Given the description of an element on the screen output the (x, y) to click on. 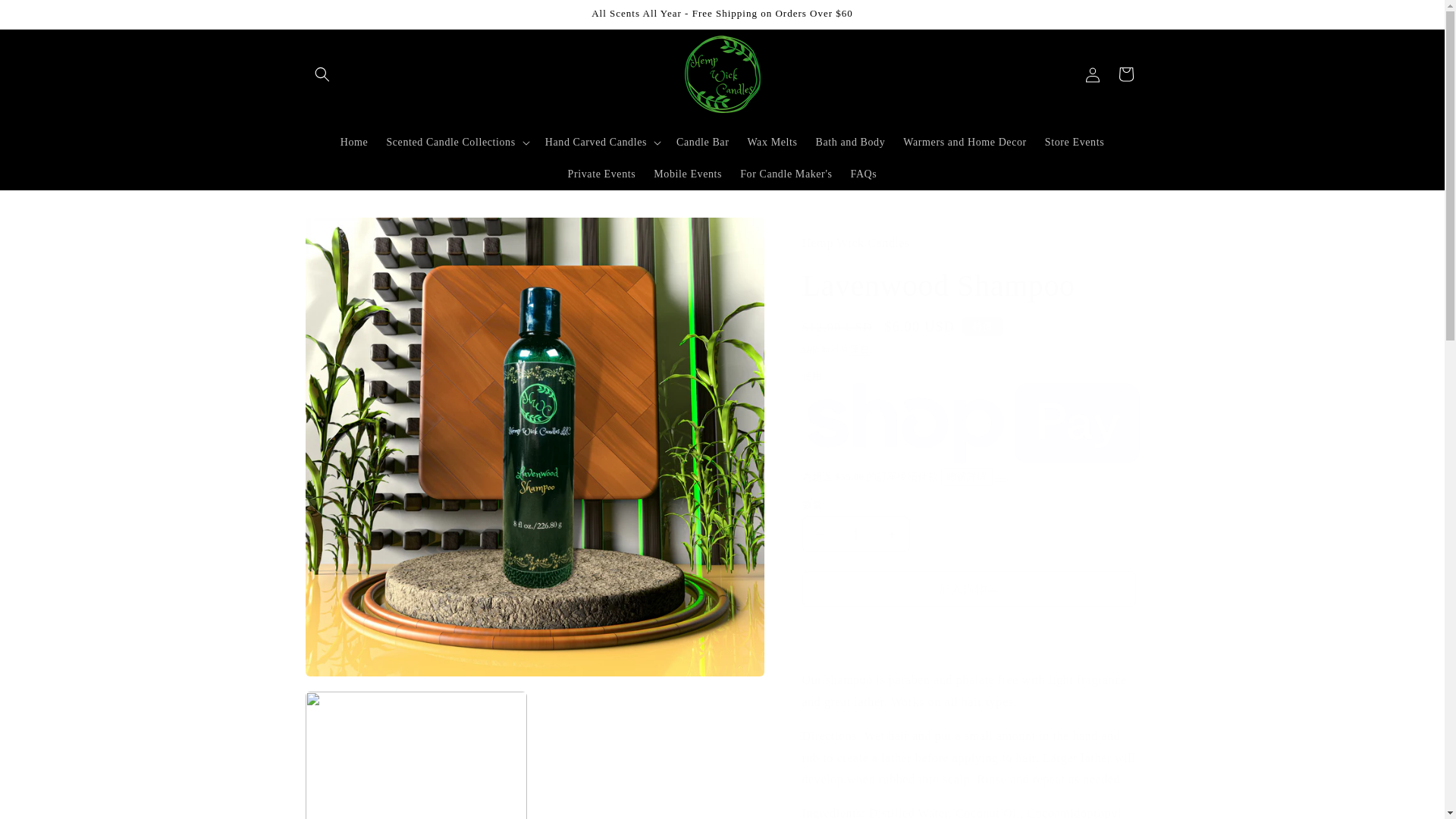
1 (856, 534)
Home (354, 142)
